Given the description of an element on the screen output the (x, y) to click on. 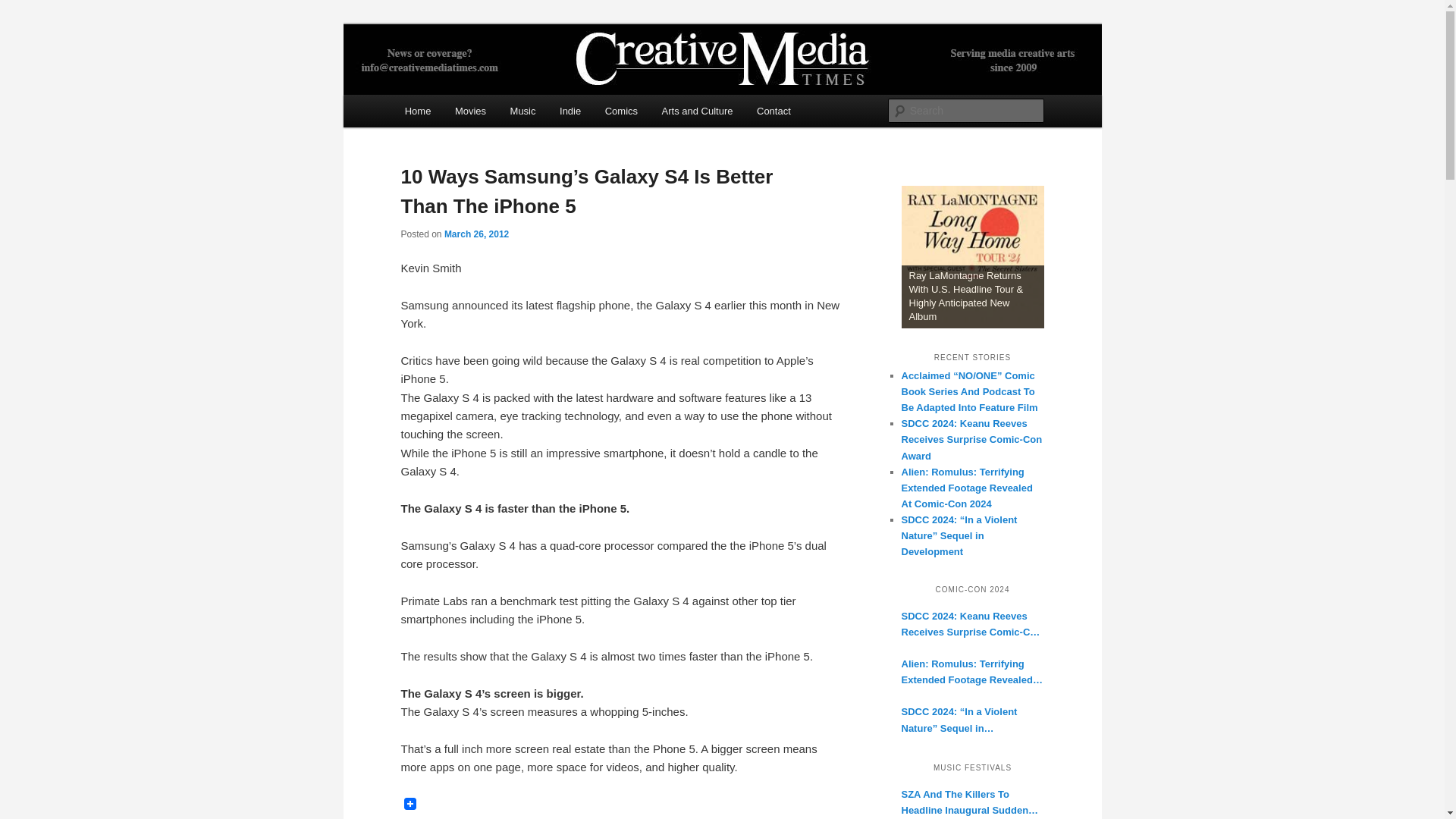
Contact (773, 111)
Indie (569, 111)
Arts and Culture (696, 111)
March 26, 2012 (476, 234)
Creative Media Times (515, 78)
4:43 am (476, 234)
Movies (469, 111)
SDCC 2024: Keanu Reeves Receives Surprise Comic-Con Award (971, 439)
